Given the description of an element on the screen output the (x, y) to click on. 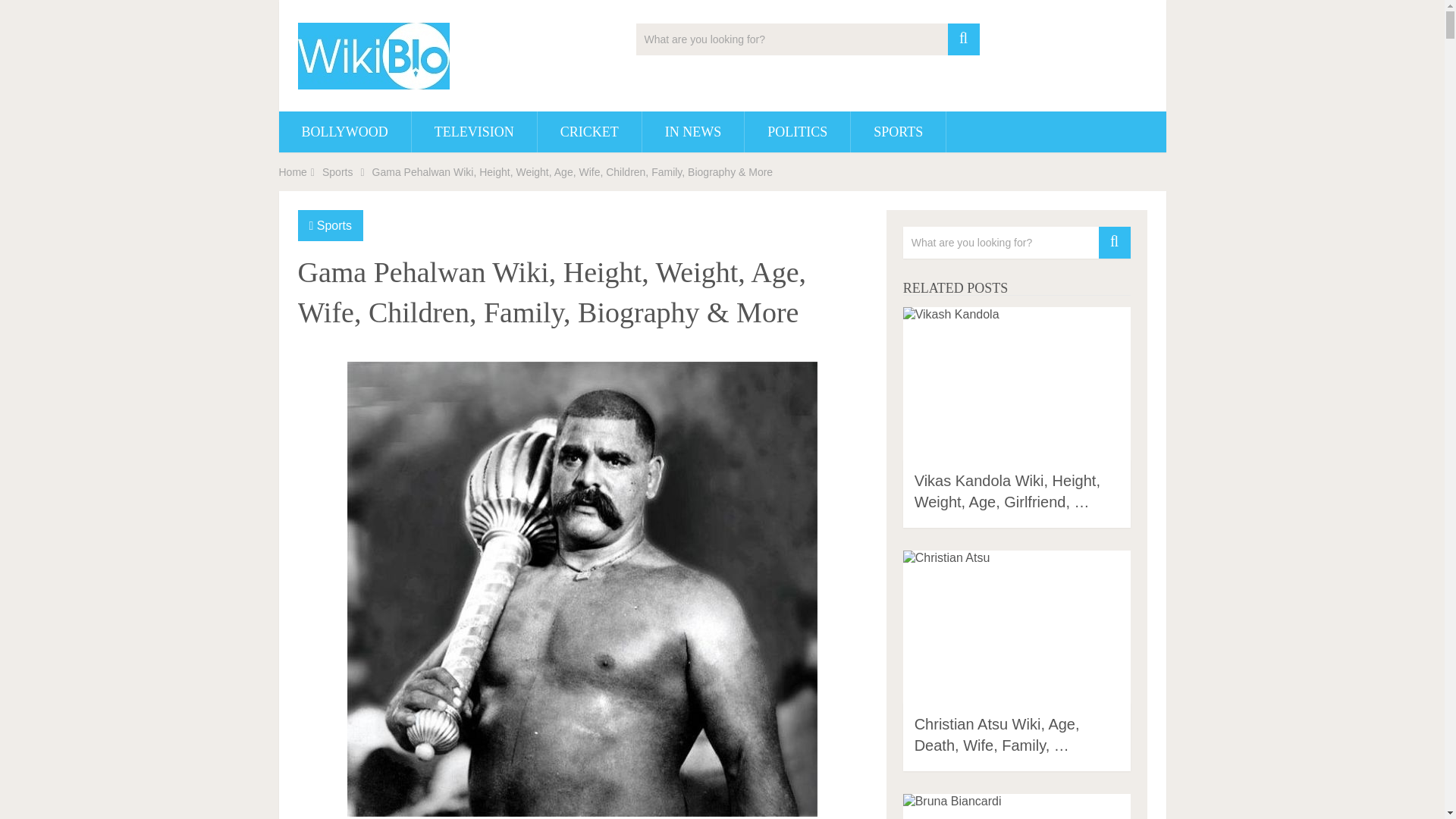
POLITICS (797, 131)
View all posts in Sports (334, 225)
IN NEWS (693, 131)
TELEVISION (474, 131)
Sports (334, 225)
Home (293, 172)
CRICKET (589, 131)
Sports (336, 172)
SPORTS (897, 131)
BOLLYWOOD (344, 131)
